Given the description of an element on the screen output the (x, y) to click on. 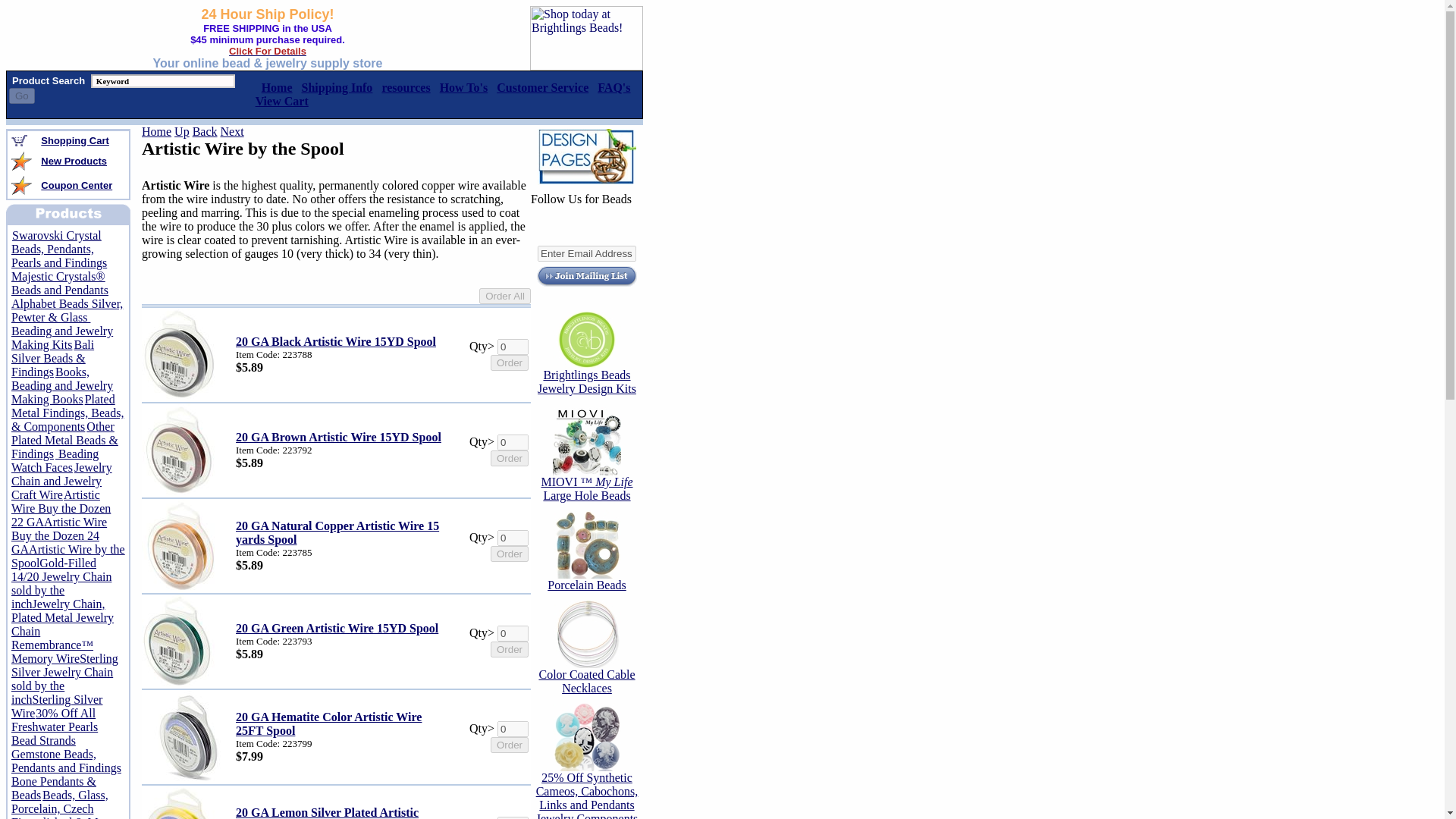
Order (509, 362)
Artistic Wire by the Spool (68, 555)
Coupon Center (76, 184)
Go (21, 95)
FAQ's (613, 87)
Books, Beading and Jewelry Making Books (62, 385)
Order (509, 553)
Jewelry Chain, Plated Metal Jewelry Chain (62, 617)
0 (512, 442)
resources (405, 87)
Order (509, 458)
Customer Service (542, 87)
New Products (73, 160)
Order All (505, 295)
Jewelry Chain and Jewelry Craft Wire (61, 481)
